Given the description of an element on the screen output the (x, y) to click on. 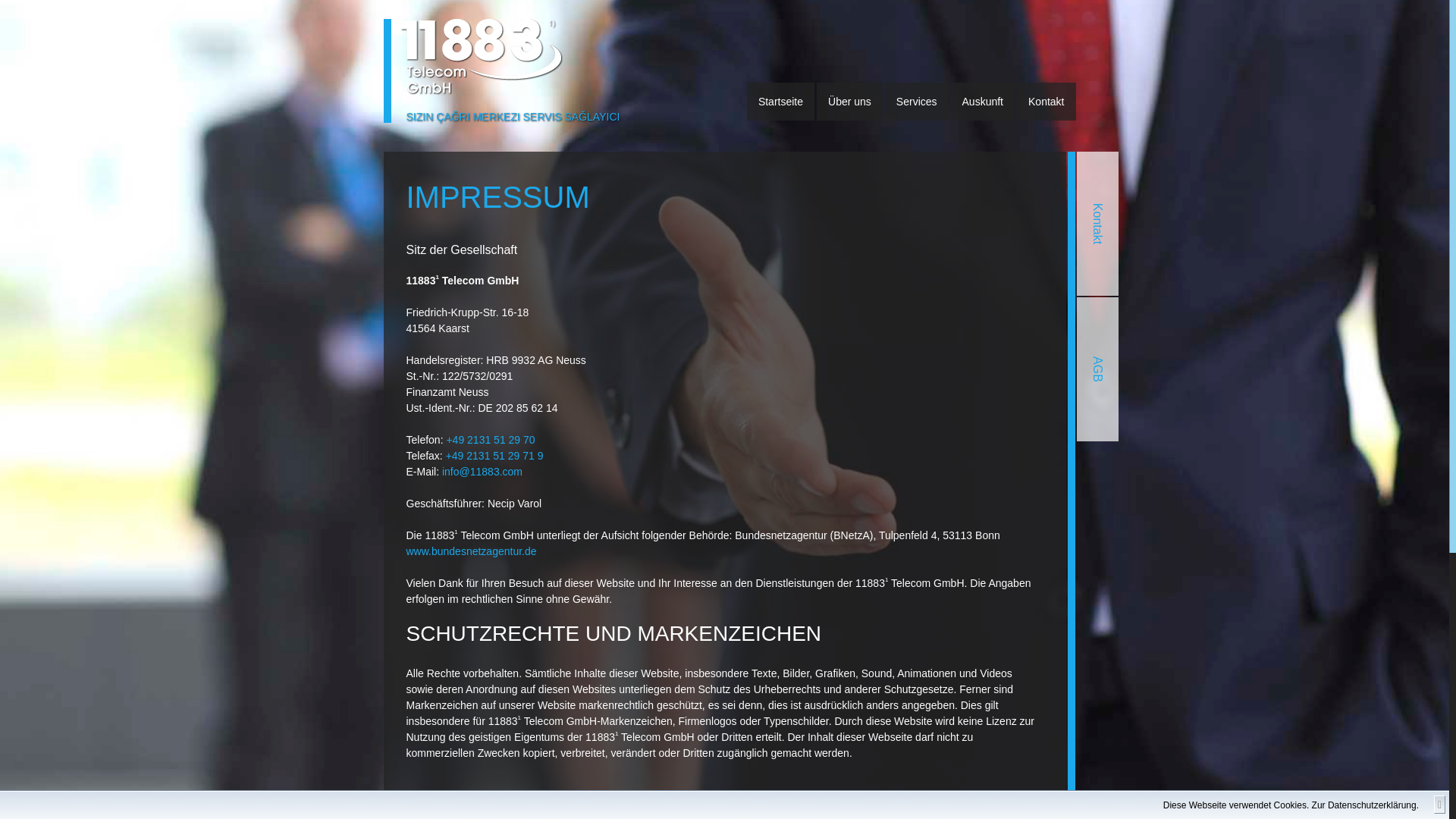
11883 Element type: text (482, 56)
Startseite Element type: text (780, 101)
+49 2131 51 29 71 9 Element type: text (494, 455)
+49 2131 51 29 70 Element type: text (489, 439)
AGB Element type: text (1148, 317)
Kontakt Element type: text (1148, 172)
Kontakt Element type: text (1045, 101)
www.bundesnetzagentur.de Element type: text (471, 551)
info@11883.com Element type: text (482, 471)
